Given the description of an element on the screen output the (x, y) to click on. 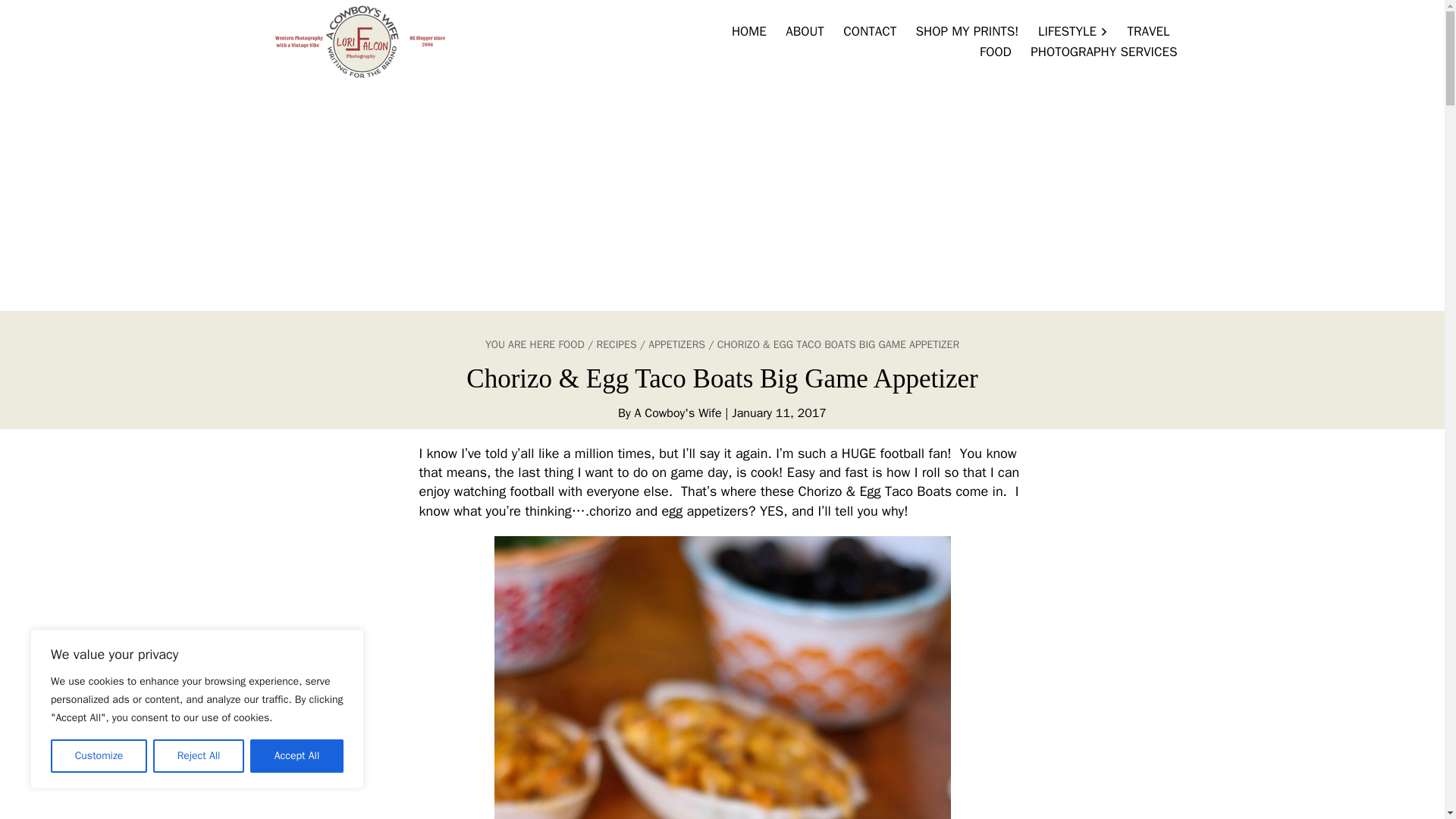
HOME (748, 31)
Customize (98, 756)
Reject All (198, 756)
ABOUT (804, 31)
CONTACT (869, 31)
Accept All (296, 756)
